Given the description of an element on the screen output the (x, y) to click on. 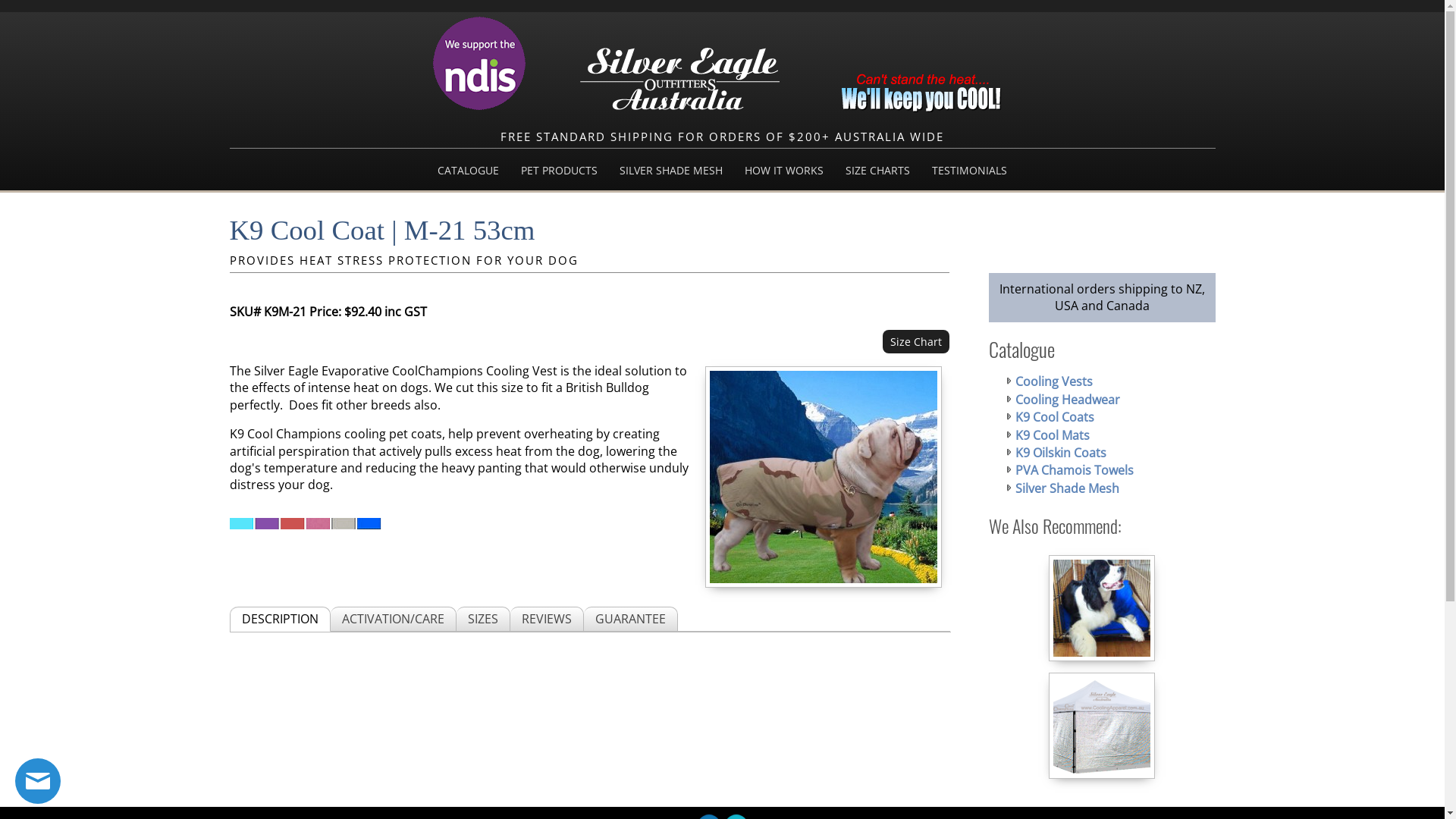
Live chat offline Element type: hover (37, 780)
SIZE CHARTS Element type: text (877, 170)
Click for more Information Element type: hover (478, 108)
K9 Cool Mats Element type: text (1051, 434)
PVA Chamois Towels Element type: text (1073, 469)
TESTIMONIALS Element type: text (969, 170)
SILVER SHADE MESH Element type: text (671, 170)
HOW IT WORKS Element type: text (783, 170)
CATALOGUE Element type: text (468, 170)
K9 Cool Coats Element type: text (1053, 416)
PET PRODUCTS Element type: text (558, 170)
Cooling Vests Element type: text (1053, 381)
Silver Eagle Outfitters | Australia Element type: hover (679, 78)
Cooling Headwear Element type: text (1066, 399)
Size Chart Element type: text (915, 341)
Silver Shade Mesh Element type: text (1066, 488)
K9 Oilskin Coats Element type: text (1059, 452)
